Given the description of an element on the screen output the (x, y) to click on. 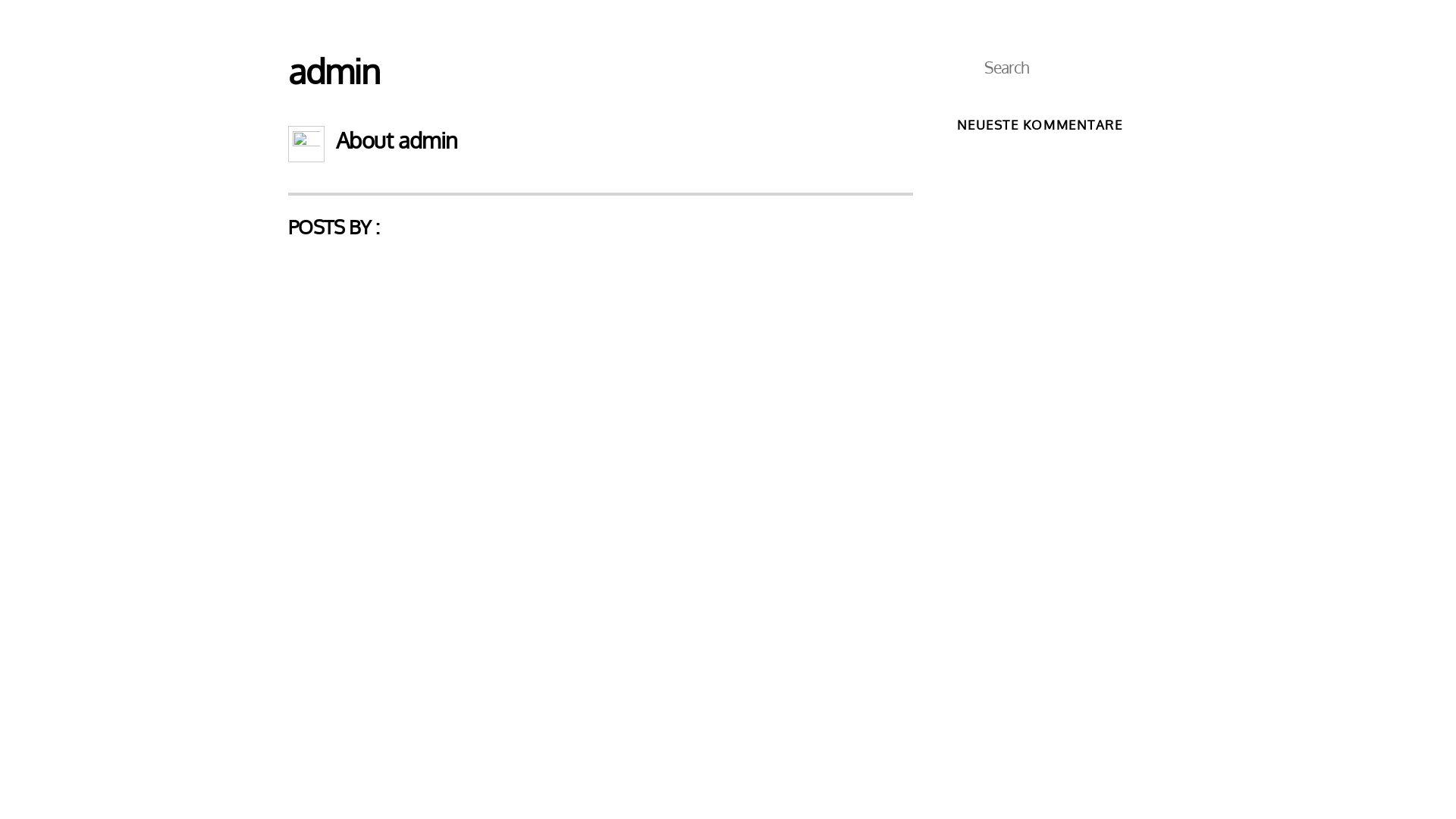
Search Element type: hover (1062, 67)
